Given the description of an element on the screen output the (x, y) to click on. 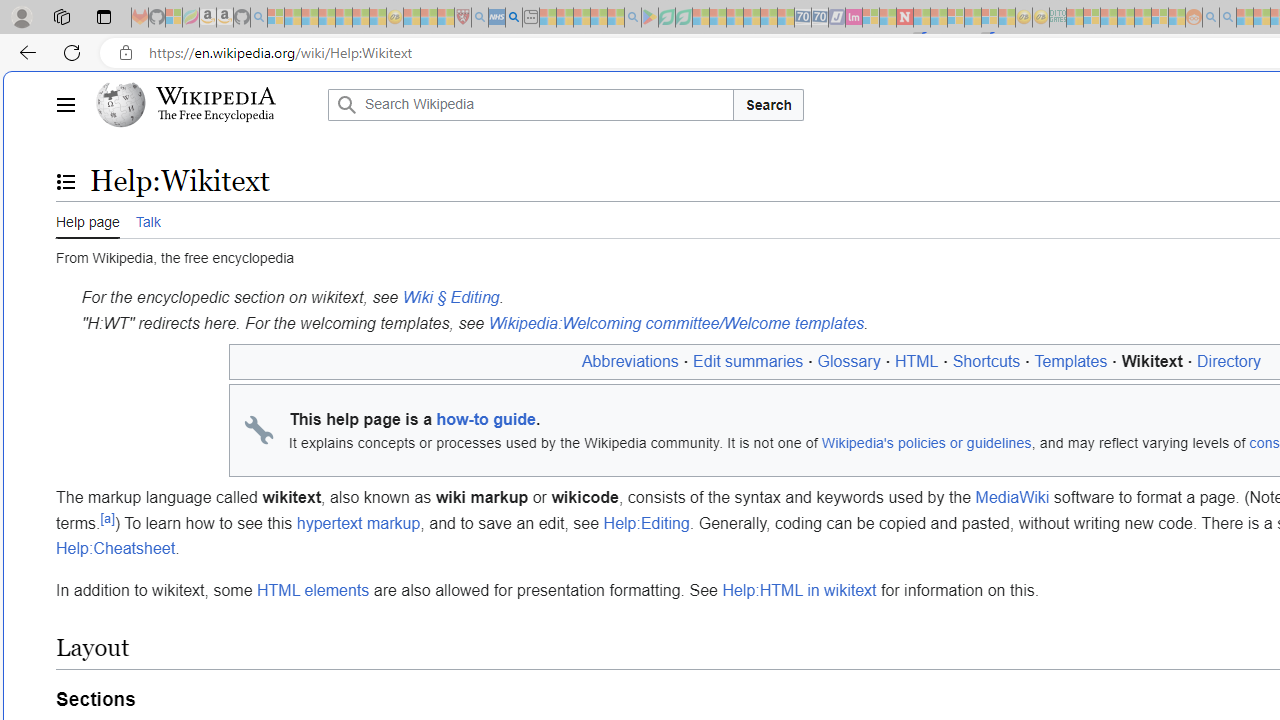
Cheap Hotels - Save70.com - Sleeping (819, 17)
Help:Editing (645, 523)
how-to guide (486, 418)
Pets - MSN - Sleeping (598, 17)
google - Search - Sleeping (632, 17)
Glossary (848, 361)
HTML elements (312, 590)
Wikipedia The Free Encyclopedia (206, 104)
